Given the description of an element on the screen output the (x, y) to click on. 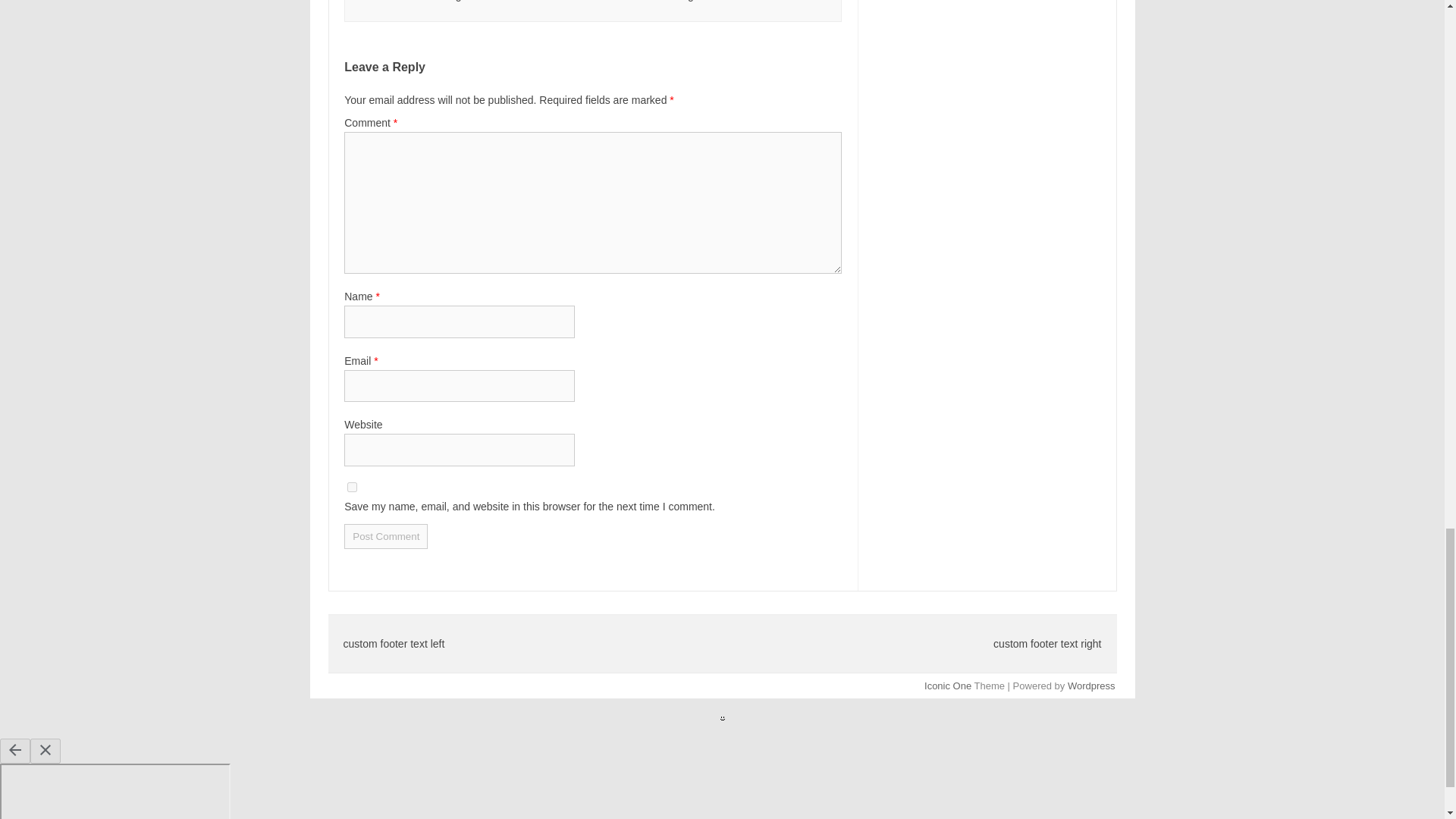
Post Comment (385, 536)
Post Comment (385, 536)
yes (351, 487)
